Given the description of an element on the screen output the (x, y) to click on. 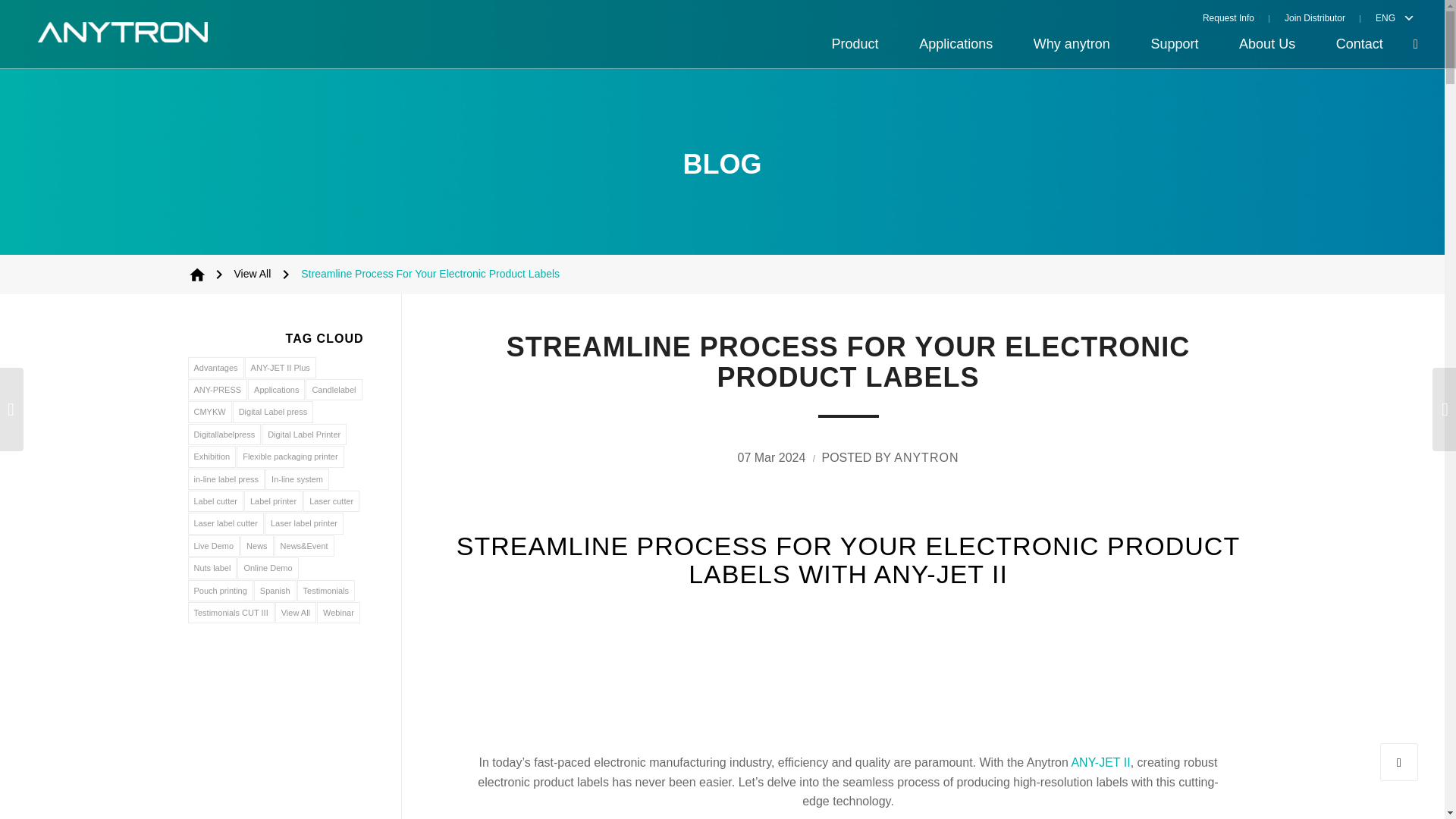
Anytron - Digital Print Pro (196, 274)
Product (855, 44)
Join Distributor (1314, 17)
Scroll to top (1399, 761)
Request Info (1235, 17)
Applications (955, 44)
ENG (1381, 17)
